Given the description of an element on the screen output the (x, y) to click on. 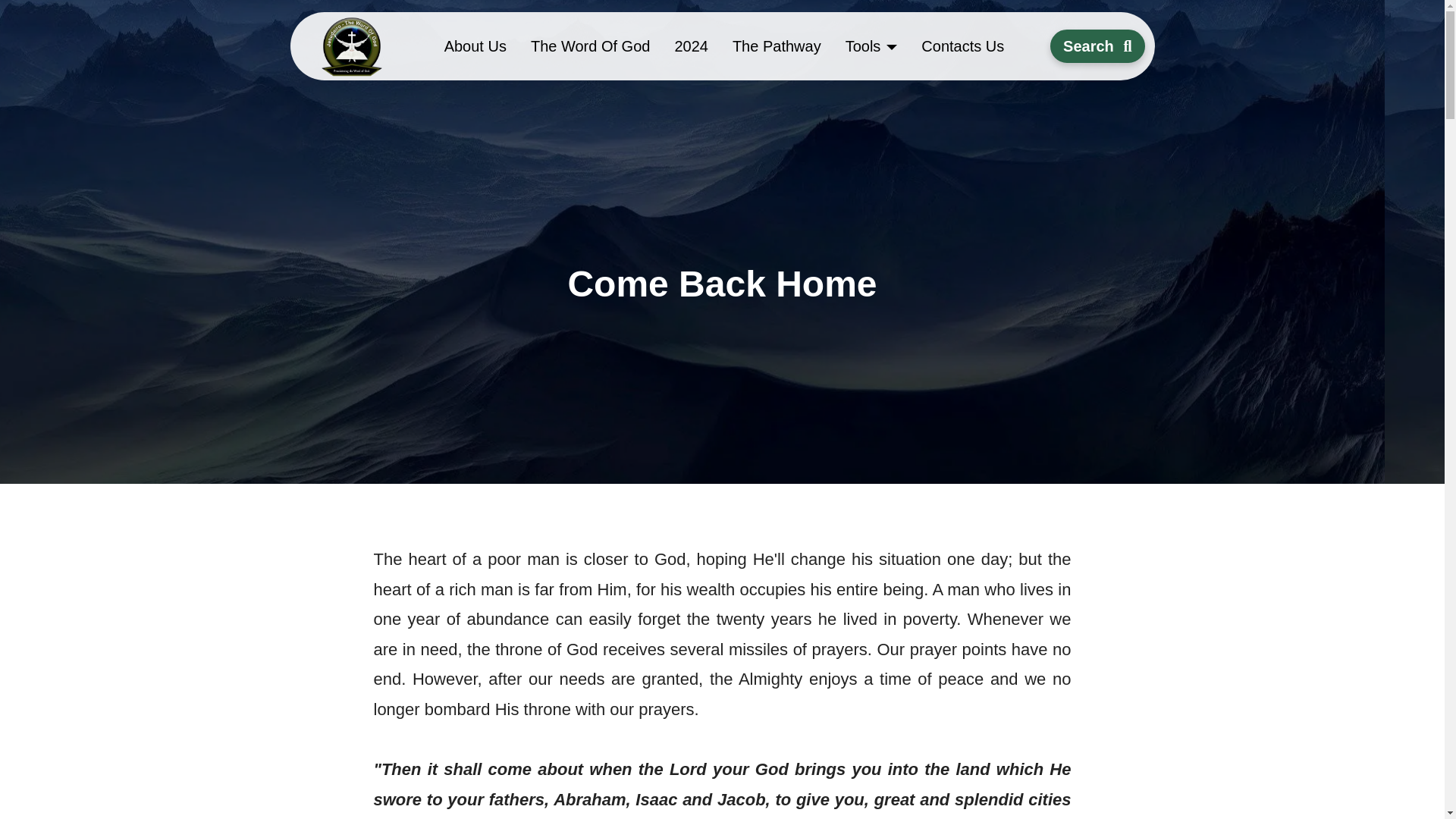
Tools (871, 46)
About Us (475, 46)
The Pathway (776, 46)
Contacts Us (962, 46)
The Word Of God (590, 46)
Search (1096, 46)
2024 (691, 46)
